Given the description of an element on the screen output the (x, y) to click on. 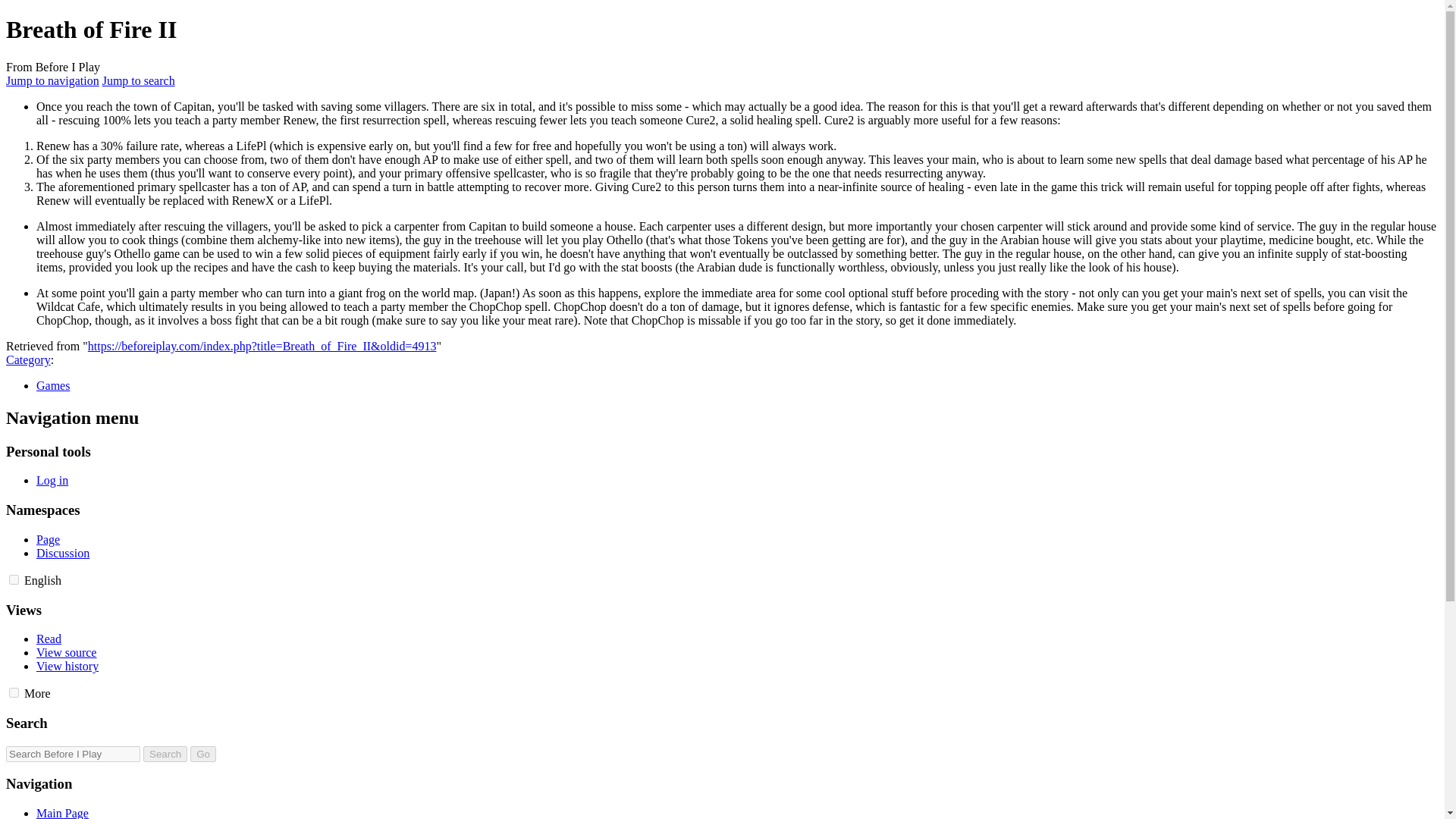
Search (164, 754)
Search (164, 754)
View history (67, 666)
Page (47, 539)
Go (202, 754)
on (13, 579)
Jump to search (137, 80)
View source (66, 652)
Jump to navigation (52, 80)
Search the pages for this text (164, 754)
